Given the description of an element on the screen output the (x, y) to click on. 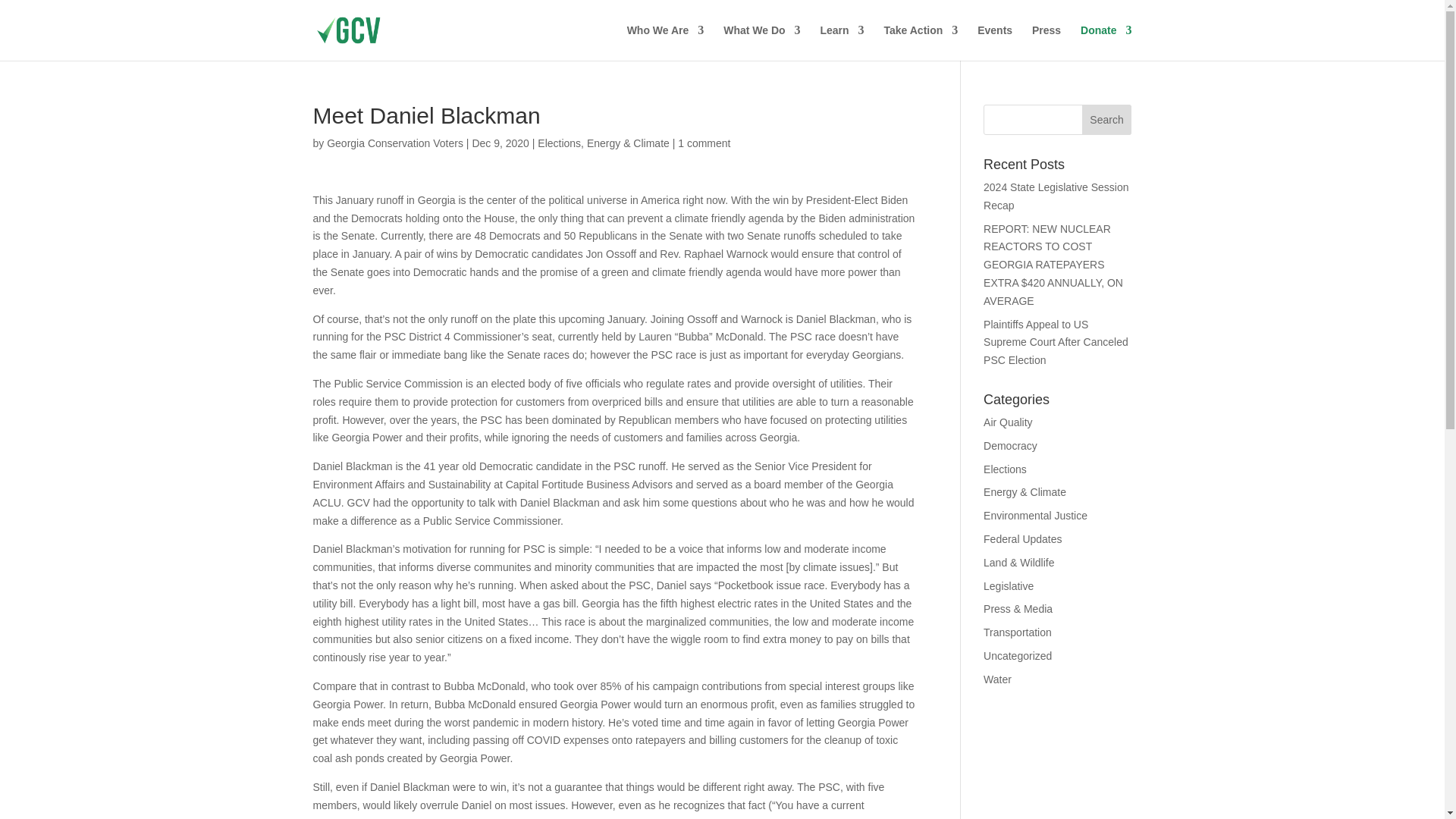
Events (993, 42)
1 comment (704, 143)
Posts by Georgia Conservation Voters (394, 143)
Who We Are (665, 42)
Donate (1105, 42)
What We Do (761, 42)
Search (1106, 119)
Georgia Conservation Voters (394, 143)
Learn (841, 42)
Elections (558, 143)
